Given the description of an element on the screen output the (x, y) to click on. 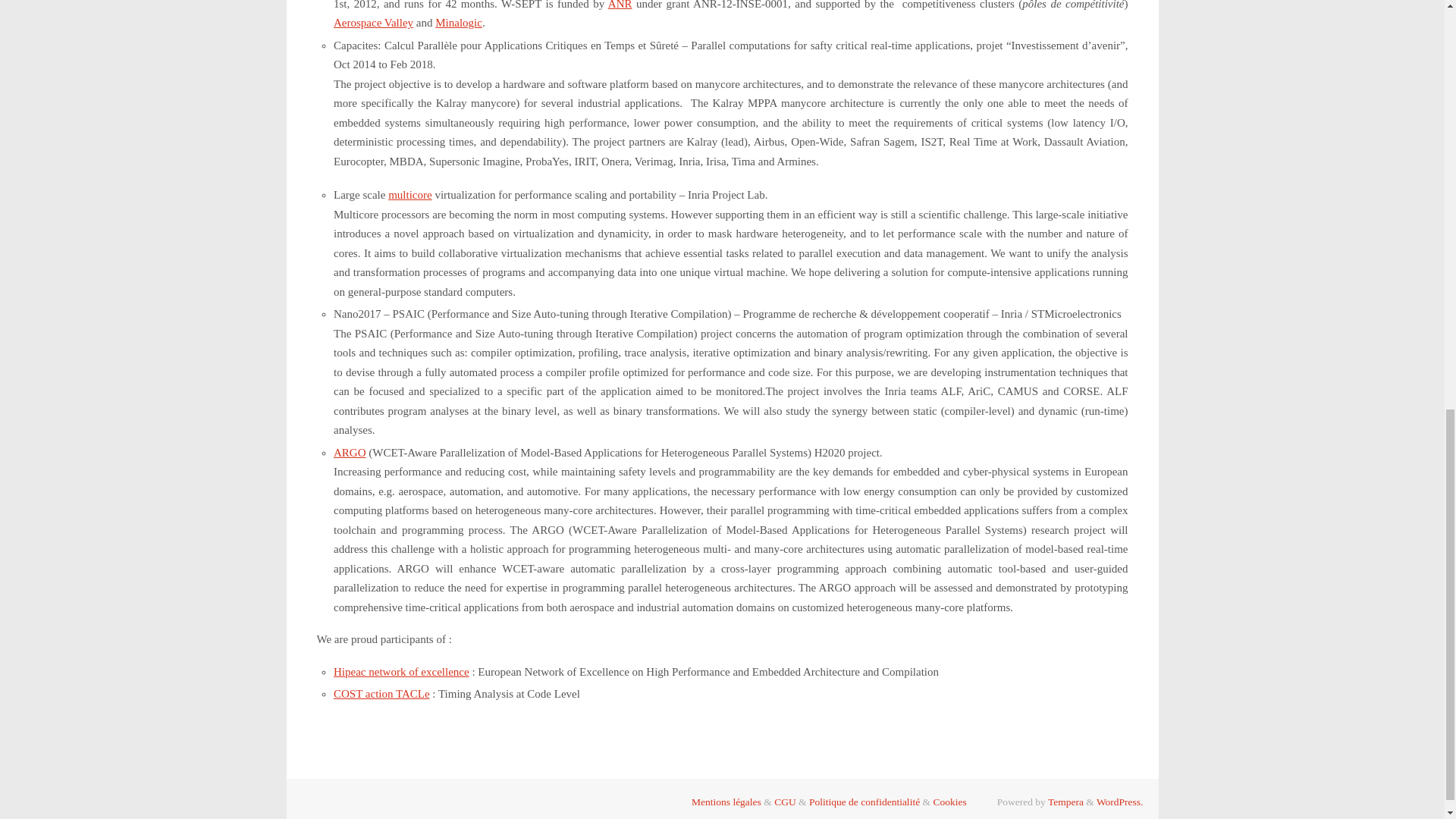
ANR (619, 4)
multicore (409, 194)
Cookies (949, 801)
Tempera Theme by Cryout Creations (1065, 801)
Cookies (949, 801)
Aerospace Valley (373, 22)
ARGO (349, 452)
Hipeac network of excellence (400, 671)
Minalogic (458, 22)
Multicore IPL (409, 194)
